Given the description of an element on the screen output the (x, y) to click on. 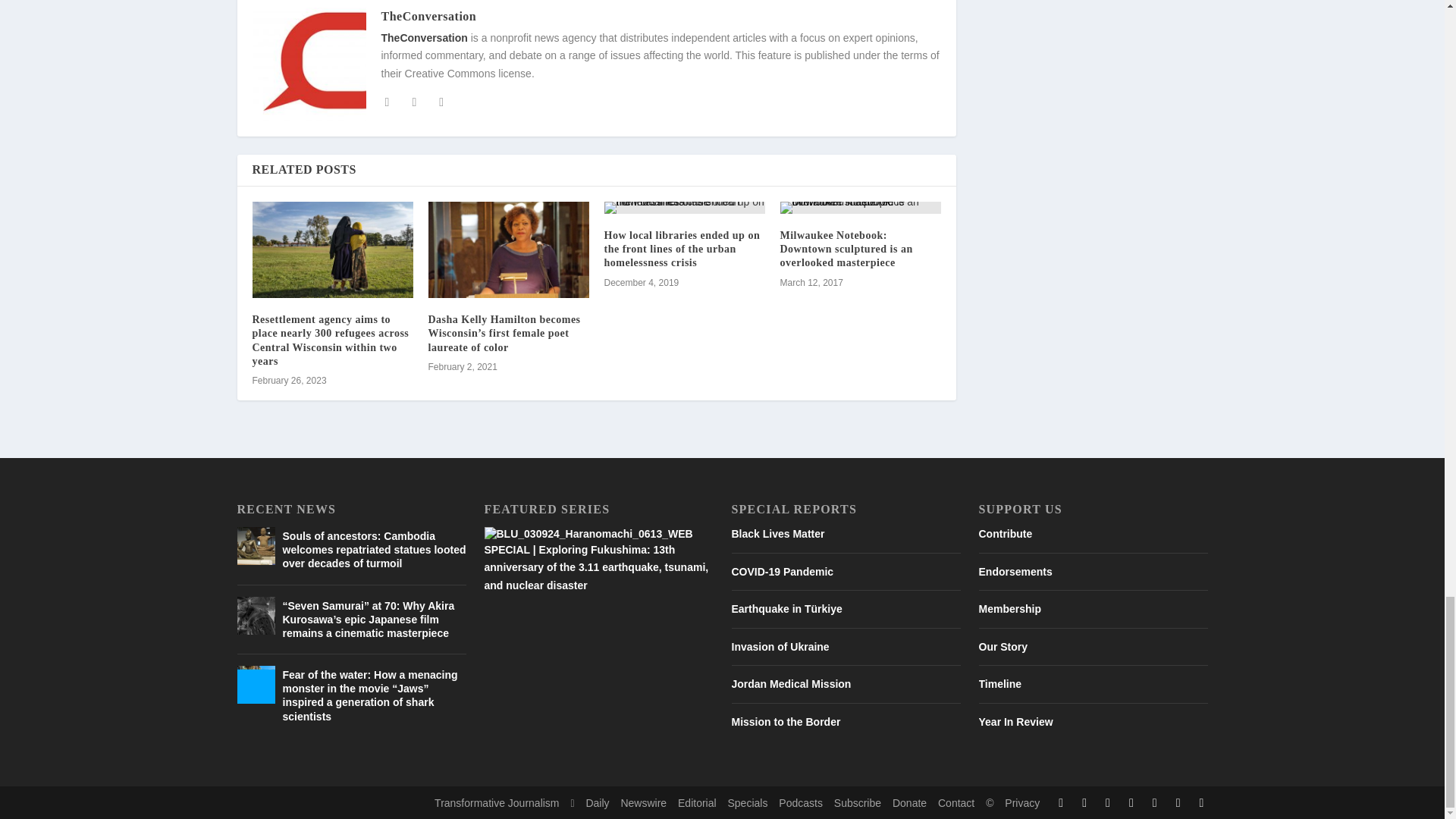
View all posts by TheConversation (428, 15)
